Given the description of an element on the screen output the (x, y) to click on. 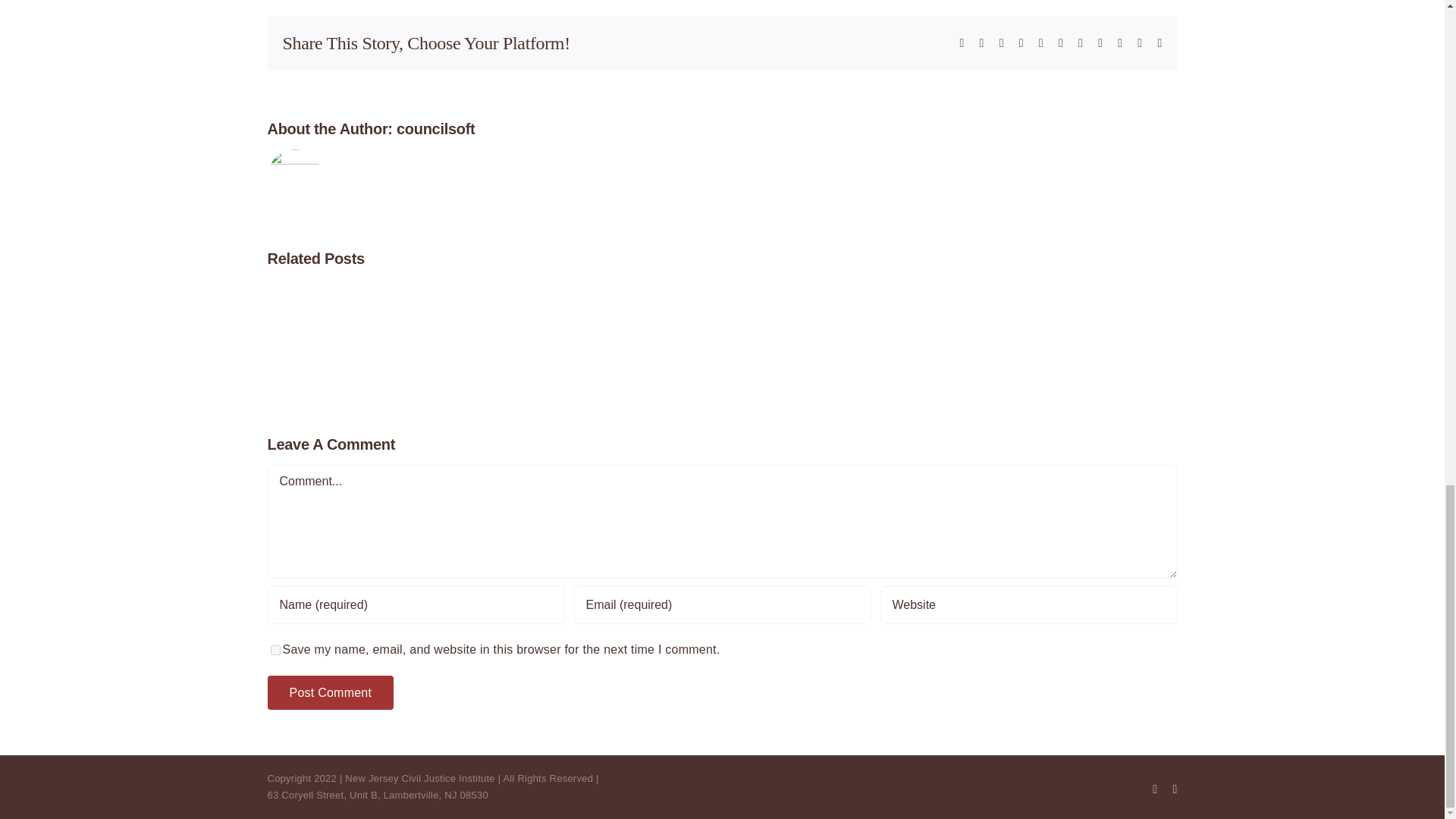
yes (274, 650)
Post Comment (329, 692)
